Given the description of an element on the screen output the (x, y) to click on. 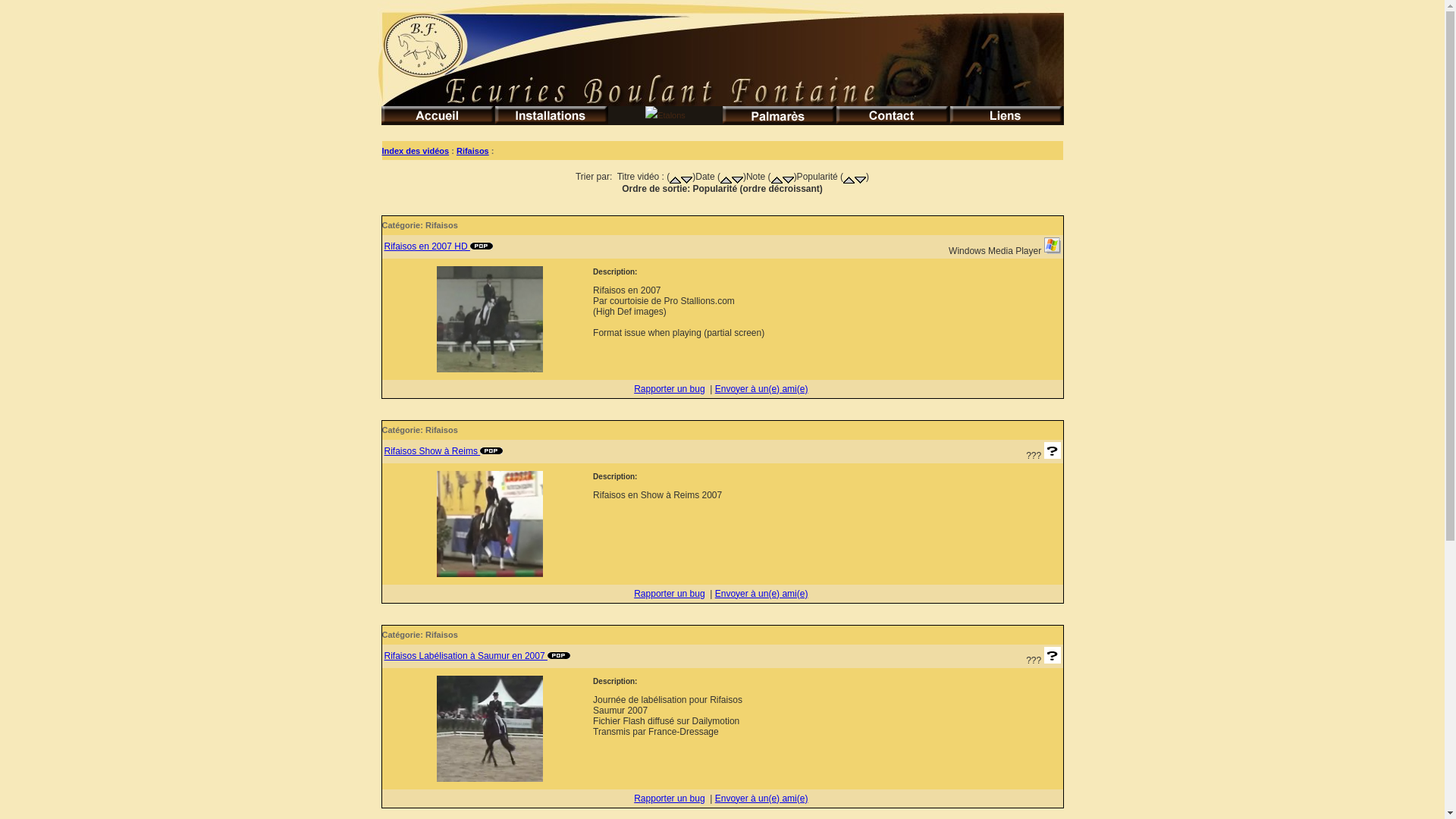
Installations Element type: hover (551, 115)
Etalons Element type: hover (664, 115)
Liens Element type: hover (1006, 115)
Rapporter un bug Element type: text (668, 388)
Contact Element type: hover (892, 115)
Accueil Element type: hover (437, 115)
Rifaisos Element type: text (472, 149)
Rapporter un bug Element type: text (668, 593)
Rapporter un bug Element type: text (668, 798)
Rifaisos en 2007 HD  Element type: text (437, 246)
